Given the description of an element on the screen output the (x, y) to click on. 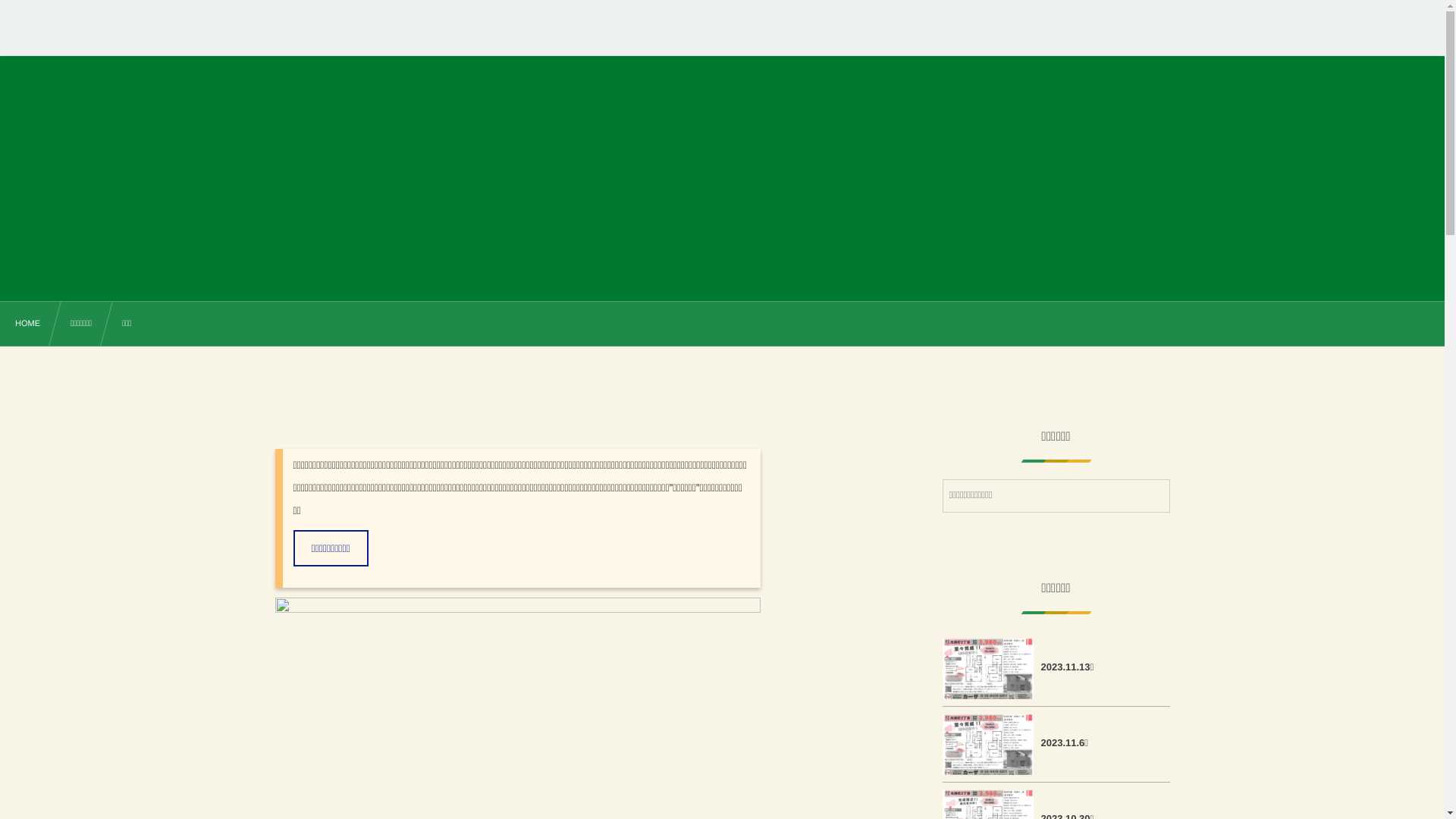
HOME Element type: text (27, 324)
